Given the description of an element on the screen output the (x, y) to click on. 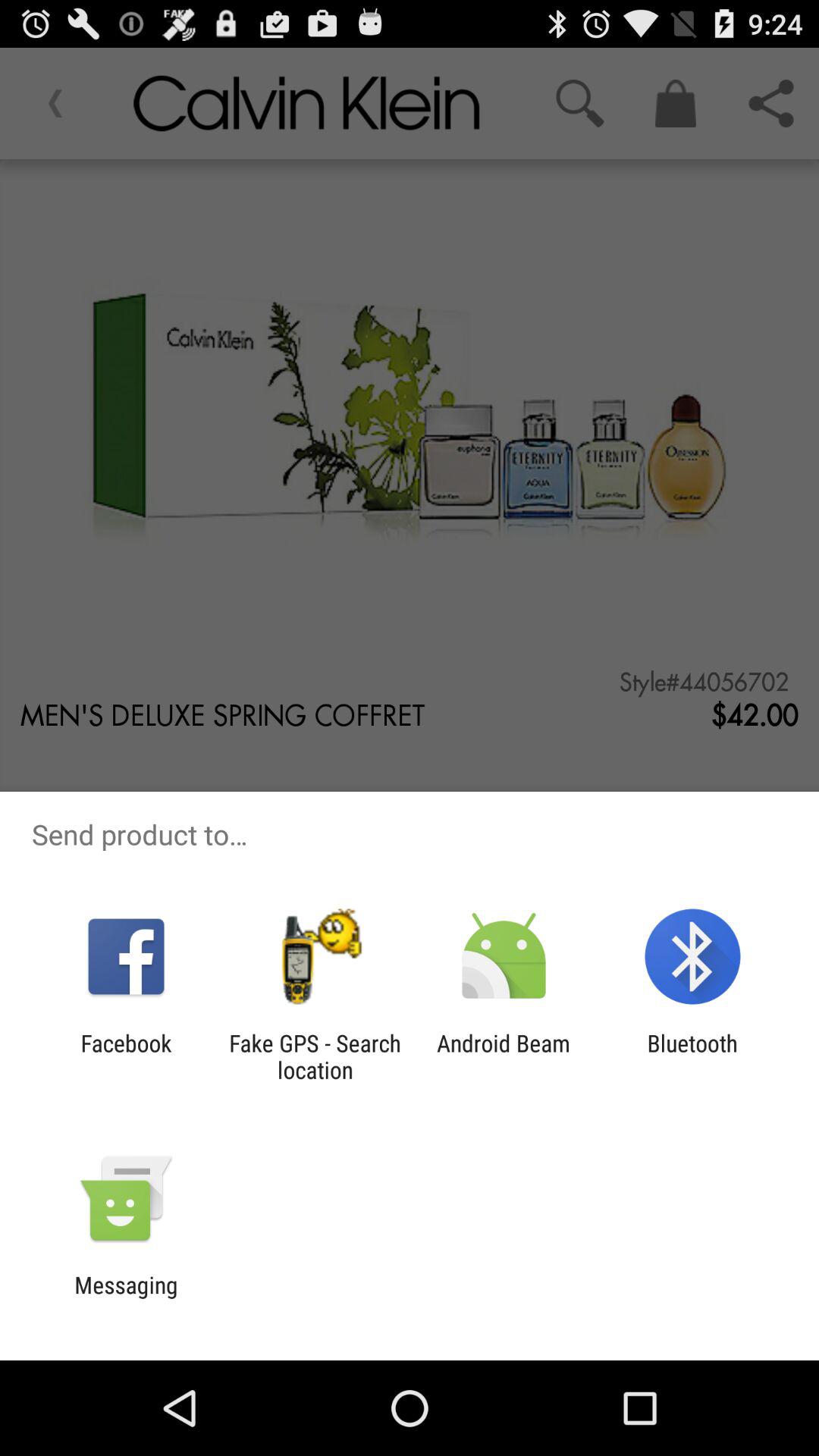
launch item next to the android beam app (314, 1056)
